Given the description of an element on the screen output the (x, y) to click on. 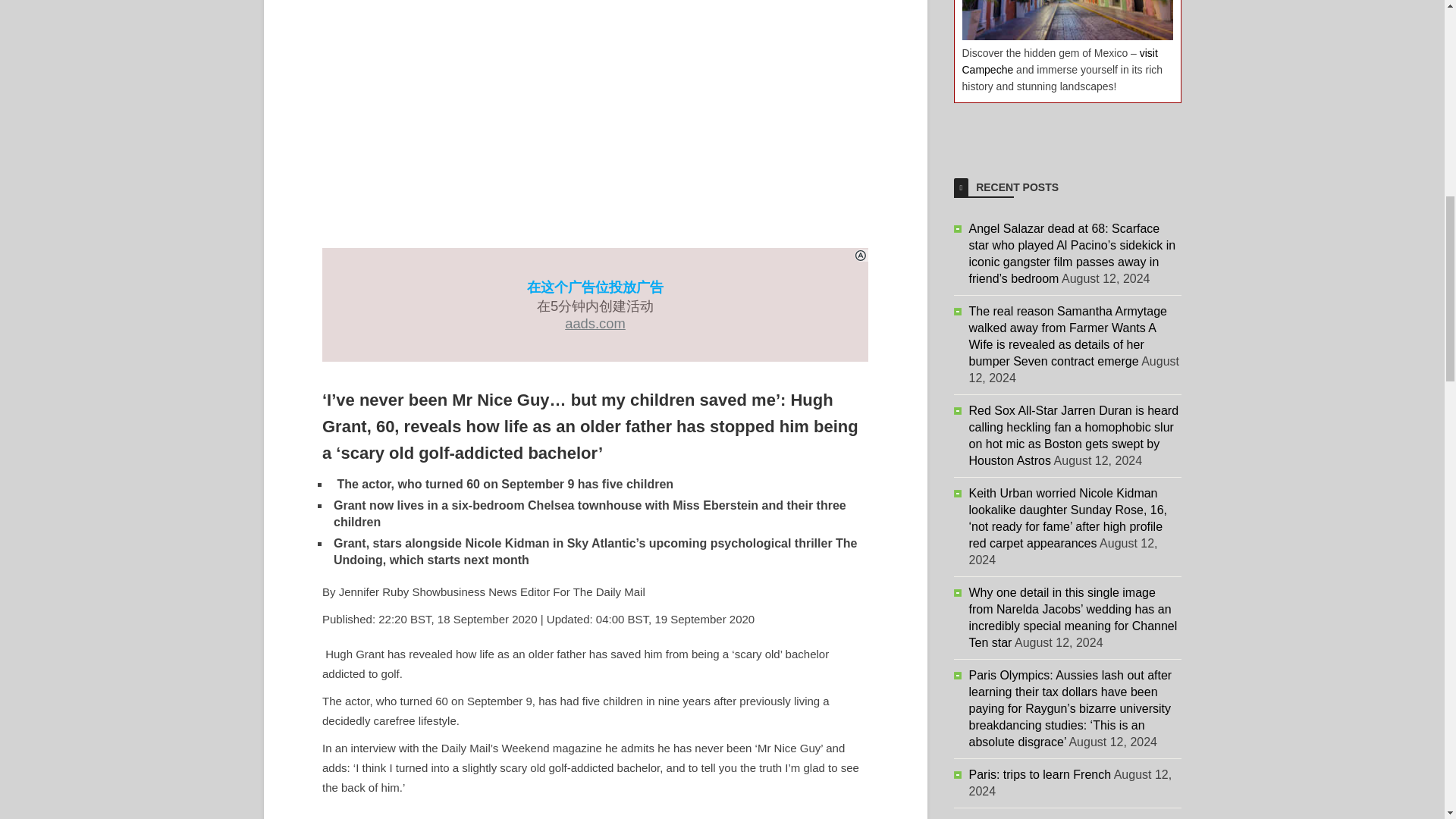
Paris: trips to learn French (1040, 774)
visit Campeche (1058, 61)
